Given the description of an element on the screen output the (x, y) to click on. 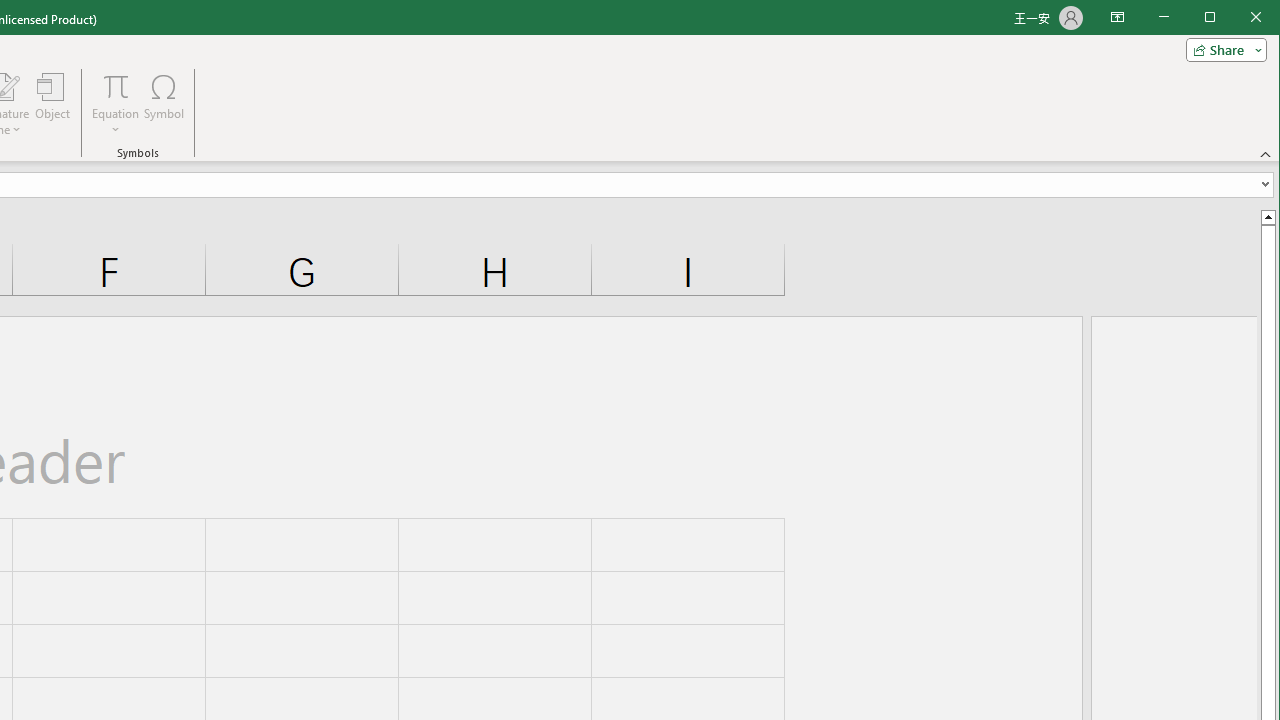
Equation (115, 86)
Object... (53, 104)
Symbol... (164, 104)
Maximize (1238, 18)
Equation (115, 104)
